Given the description of an element on the screen output the (x, y) to click on. 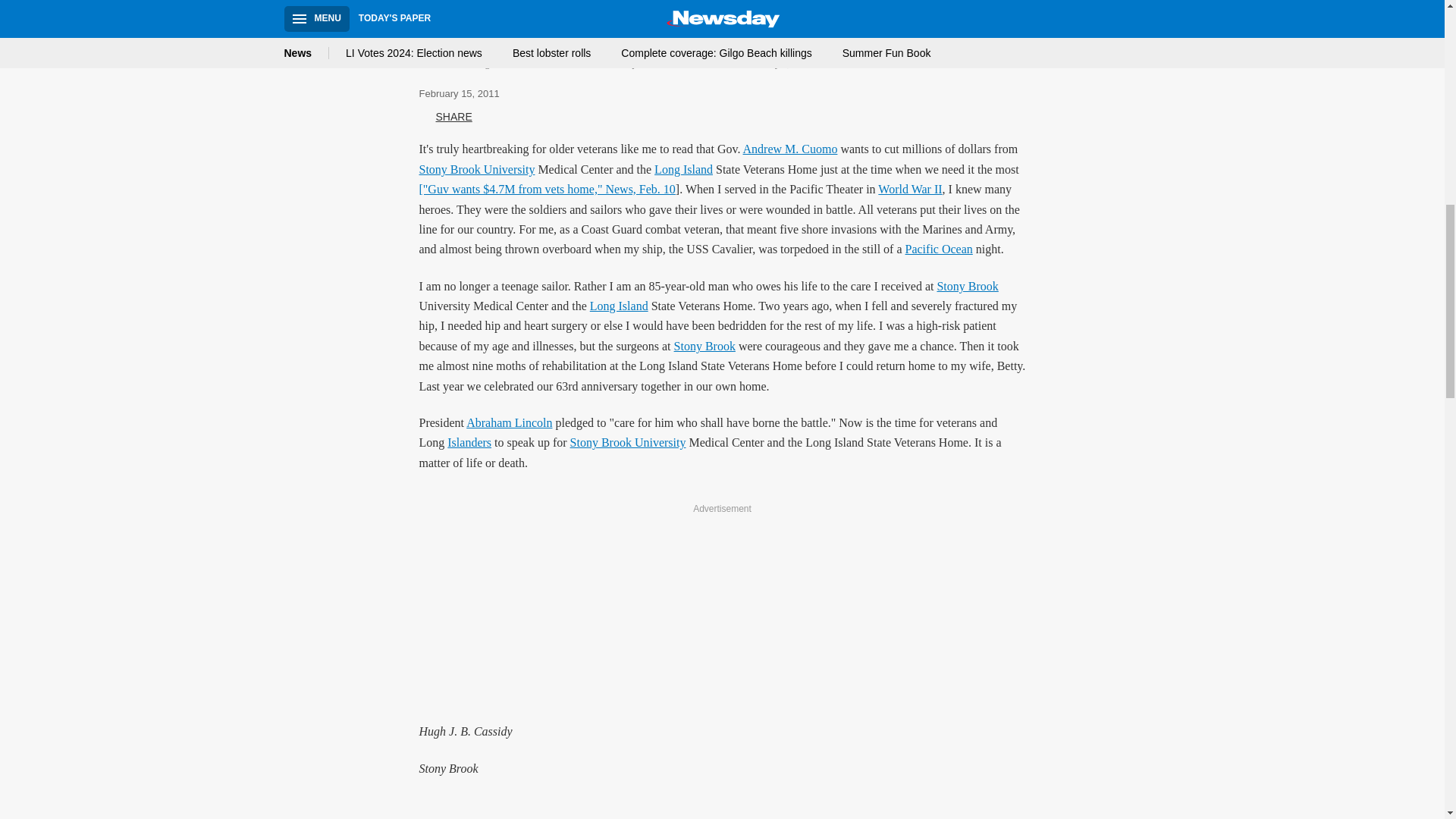
Stony Brook University (627, 441)
Abraham Lincoln (508, 422)
Stony Brook University (476, 169)
Stony Brook (966, 286)
World War II (909, 188)
Long Island (683, 169)
Islanders (469, 441)
Pacific Ocean (938, 248)
Andrew M. Cuomo (790, 148)
SHARE (445, 117)
Stony Brook (704, 345)
Long Island (618, 305)
